Given the description of an element on the screen output the (x, y) to click on. 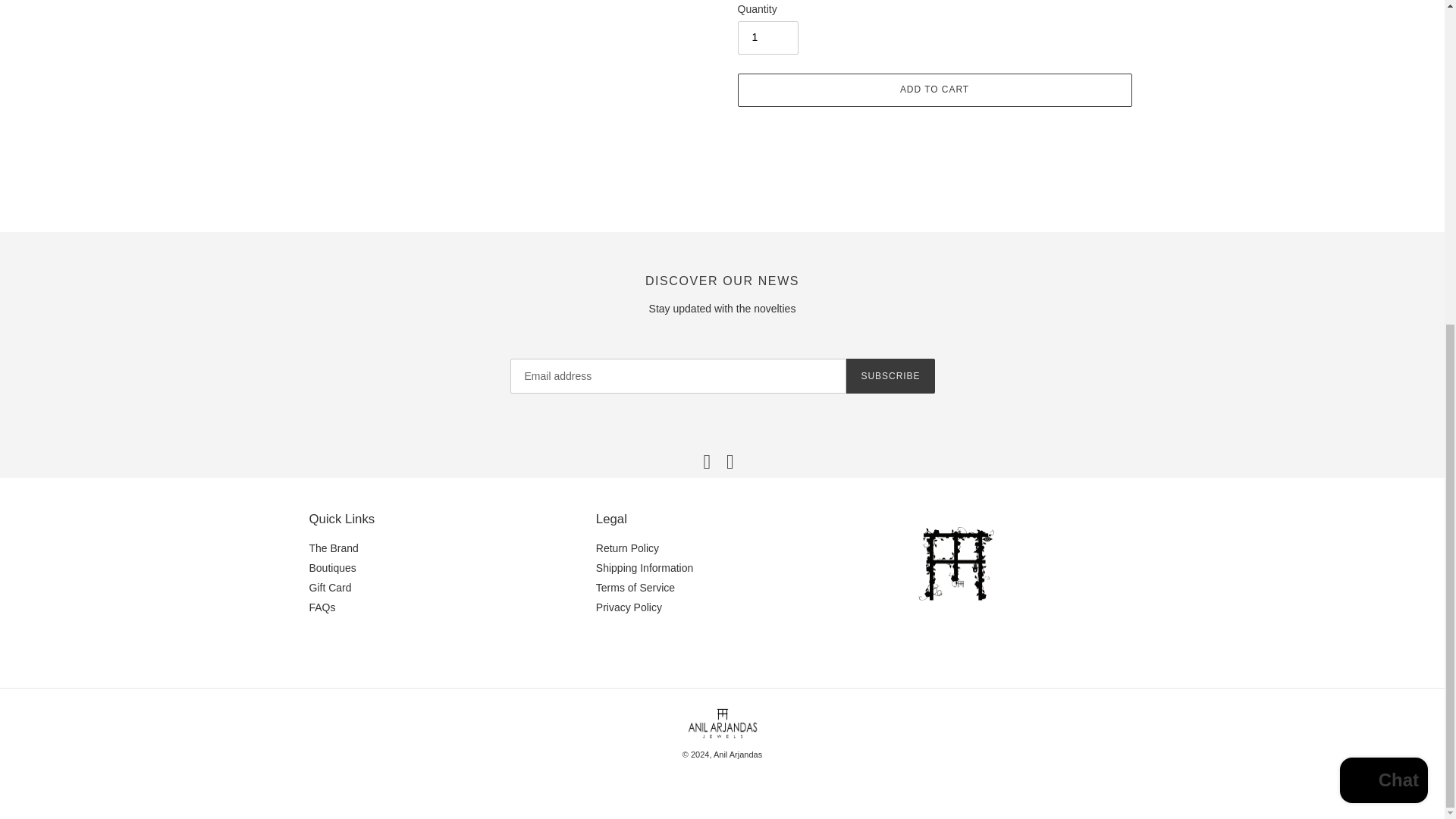
Anil Arjandas (737, 754)
1 (766, 37)
FAQs (322, 607)
SUBSCRIBE (889, 375)
Gift Card (330, 587)
Shipping Information (644, 567)
The Brand (333, 548)
Shopify online store chat (1383, 251)
Boutiques (332, 567)
Terms of Service (635, 587)
